Given the description of an element on the screen output the (x, y) to click on. 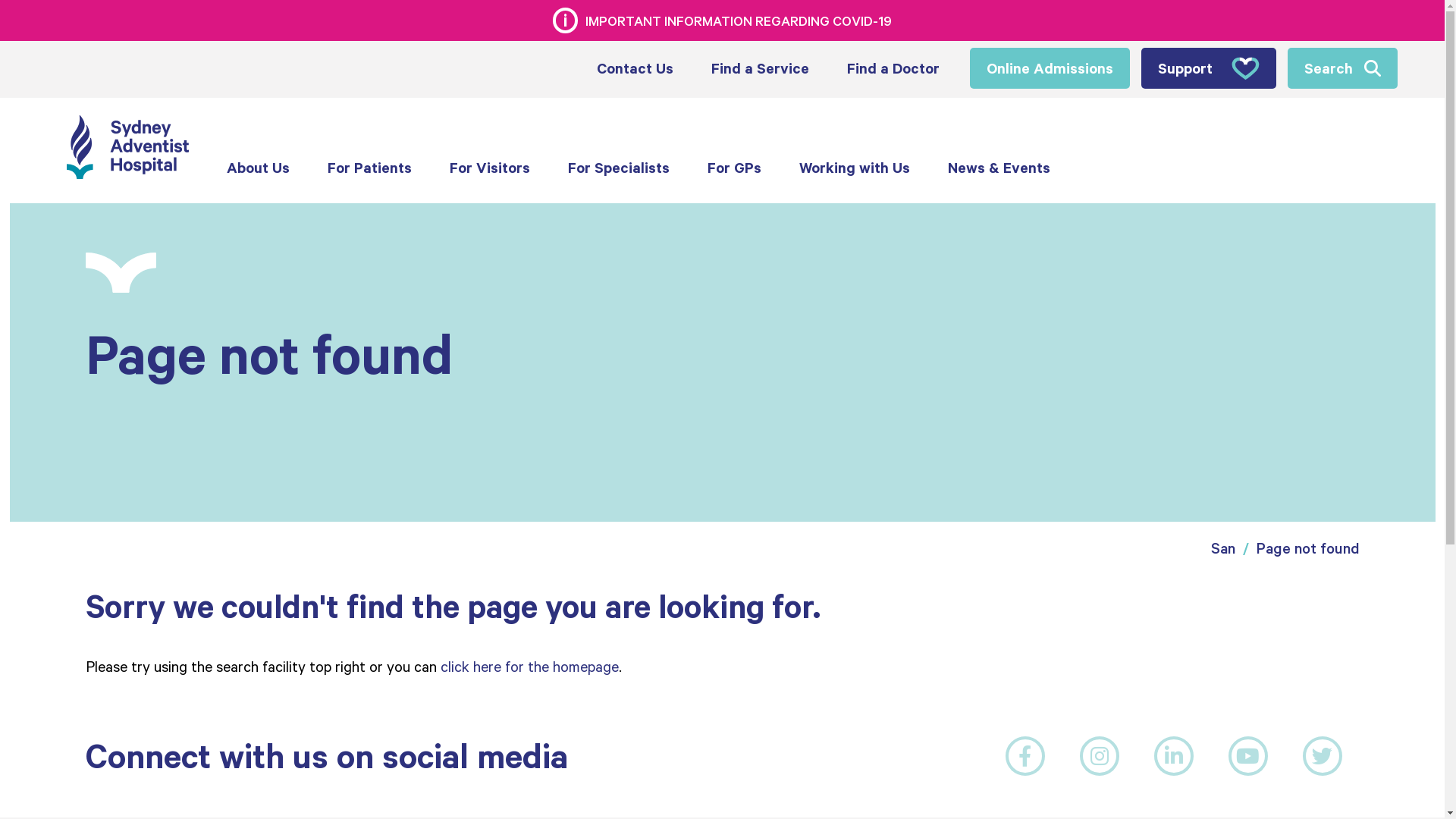
For Visitors Element type: text (489, 167)
Support Element type: text (1207, 68)
Online Admissions Element type: text (1049, 68)
San Element type: text (1222, 547)
For GPs Element type: text (734, 167)
News & Events Element type: text (998, 167)
Contact Us Element type: text (634, 68)
IMPORTANT INFORMATION REGARDING COVID-19 Element type: text (721, 20)
Search Element type: text (1342, 68)
About Us Element type: text (257, 167)
Find a Doctor Element type: text (893, 68)
For Patients Element type: text (369, 167)
Working with Us Element type: text (854, 167)
Find a Service Element type: text (759, 68)
For Specialists Element type: text (618, 167)
Page not found Element type: text (1307, 547)
click here for the homepage Element type: text (528, 665)
